Given the description of an element on the screen output the (x, y) to click on. 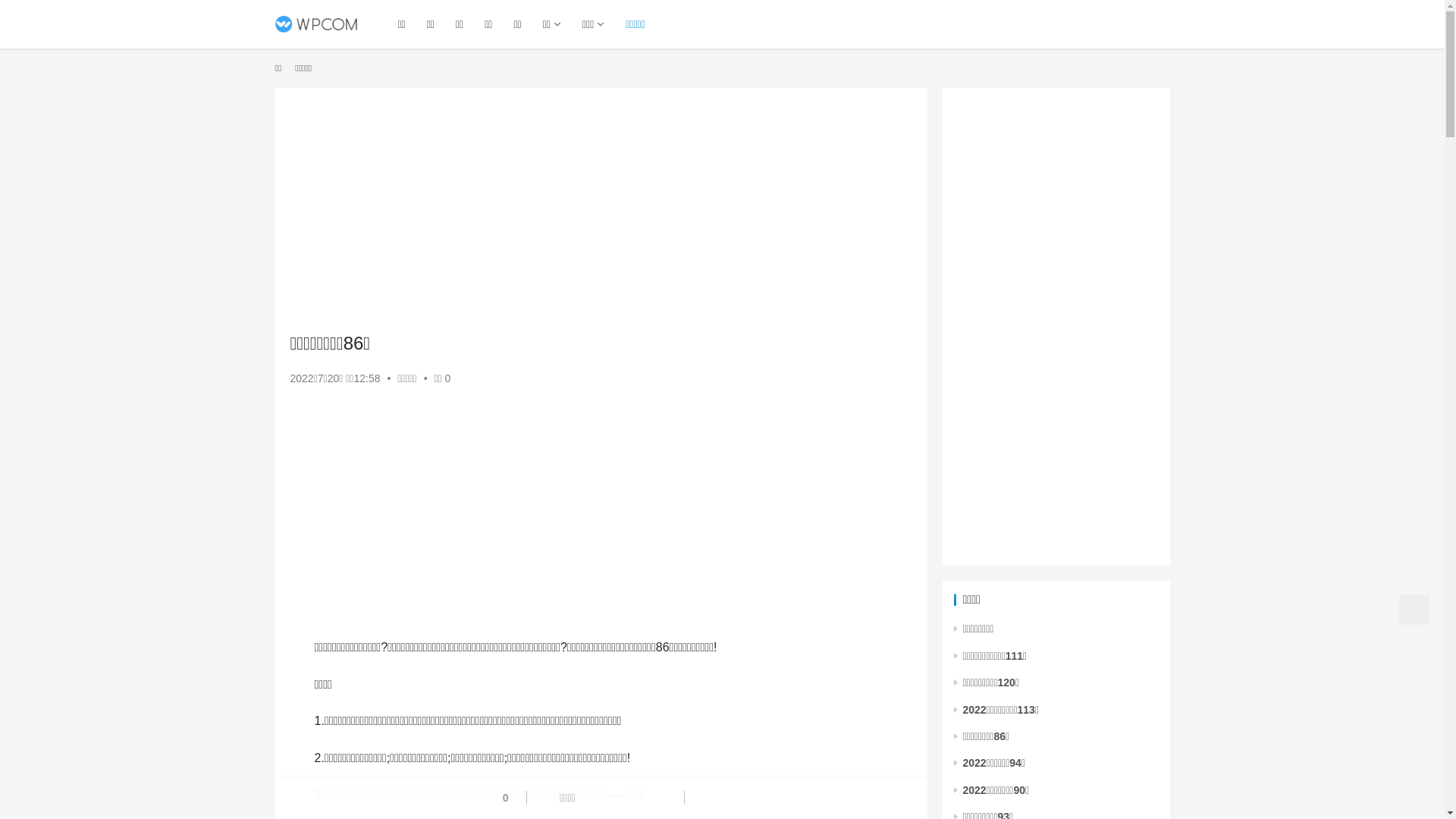
Advertisement Element type: hover (1055, 326)
Advertisement Element type: hover (600, 209)
Advertisement Element type: hover (600, 515)
0 Element type: text (497, 797)
